Given the description of an element on the screen output the (x, y) to click on. 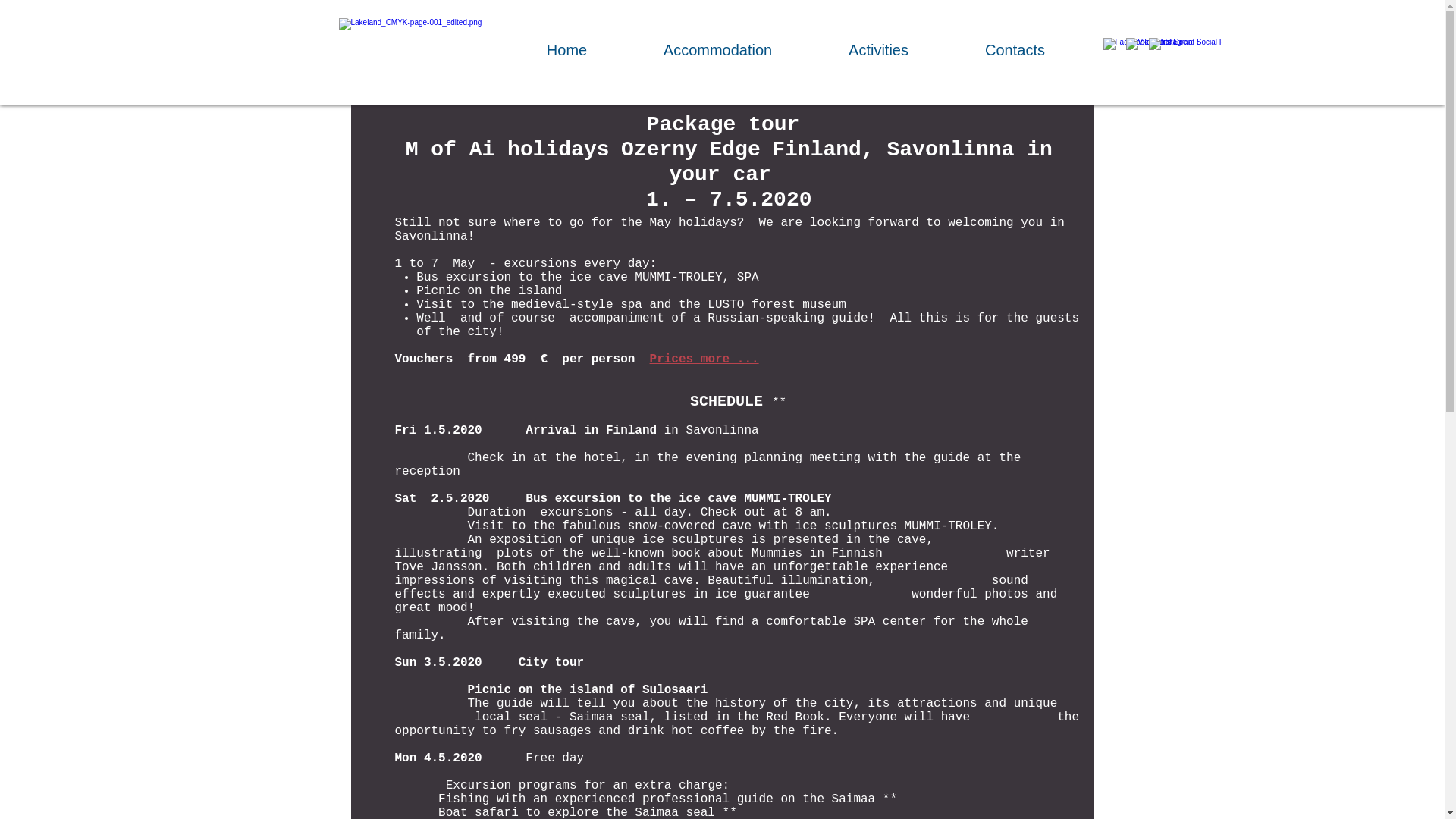
Accommodation (716, 49)
Prices more ... (703, 359)
Home (566, 49)
Contacts (1014, 49)
Activities (877, 49)
